Given the description of an element on the screen output the (x, y) to click on. 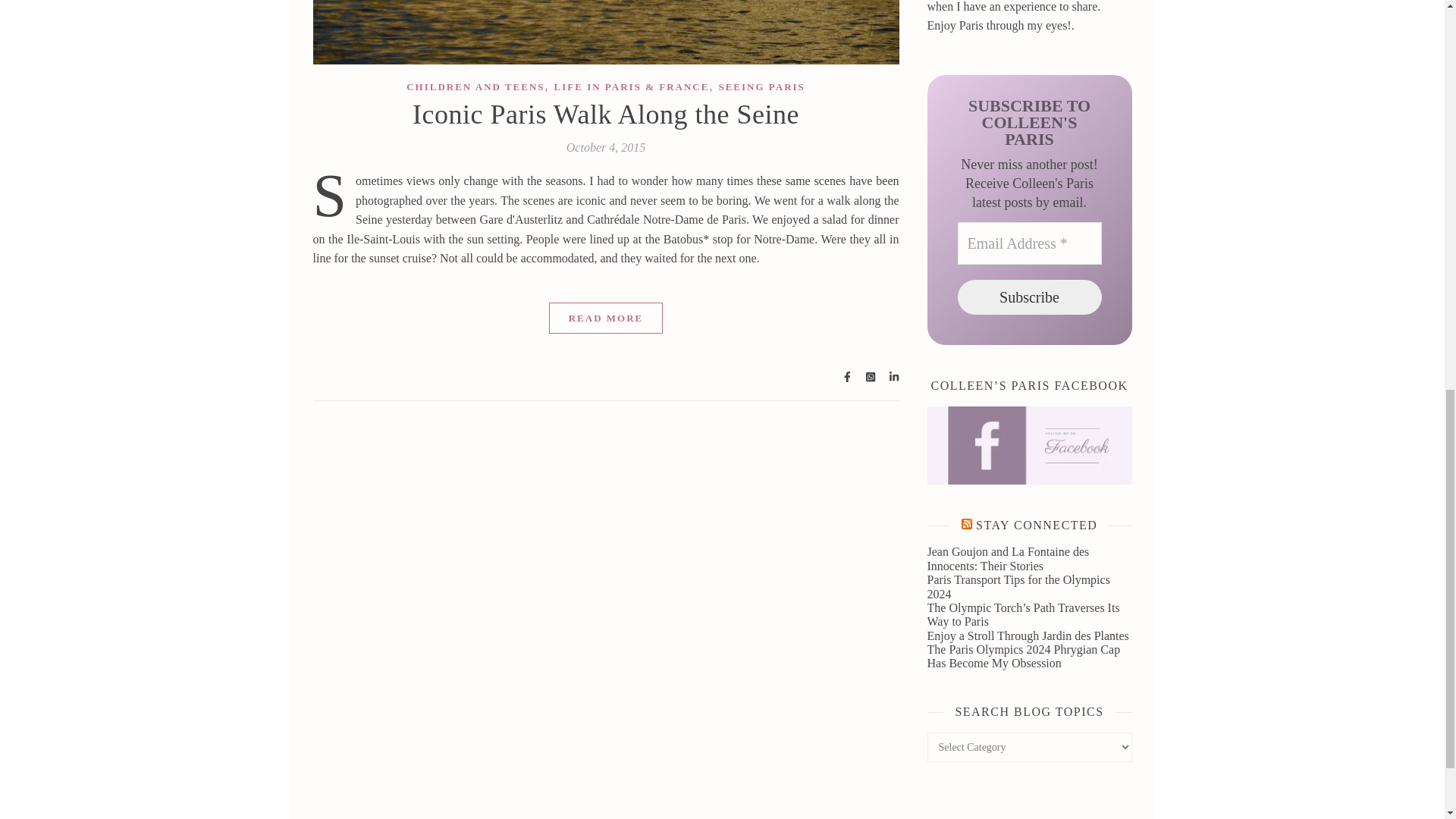
Colleen's Paris Facebook (1028, 445)
READ MORE (605, 317)
Paris Transport Tips for the Olympics 2024 (1017, 586)
Subscribe (1028, 297)
Enjoy a Stroll Through Jardin des Plantes (1027, 635)
Subscribe (1028, 297)
SEEING PARIS (761, 86)
CHILDREN AND TEENS (475, 86)
Jean Goujon and La Fontaine des Innocents: Their Stories (1007, 558)
STAY CONNECTED (1036, 524)
The Paris Olympics 2024 Phrygian Cap Has Become My Obsession (1022, 655)
Iconic Paris Walk Along the Seine (605, 114)
Email Address (1028, 242)
